Given the description of an element on the screen output the (x, y) to click on. 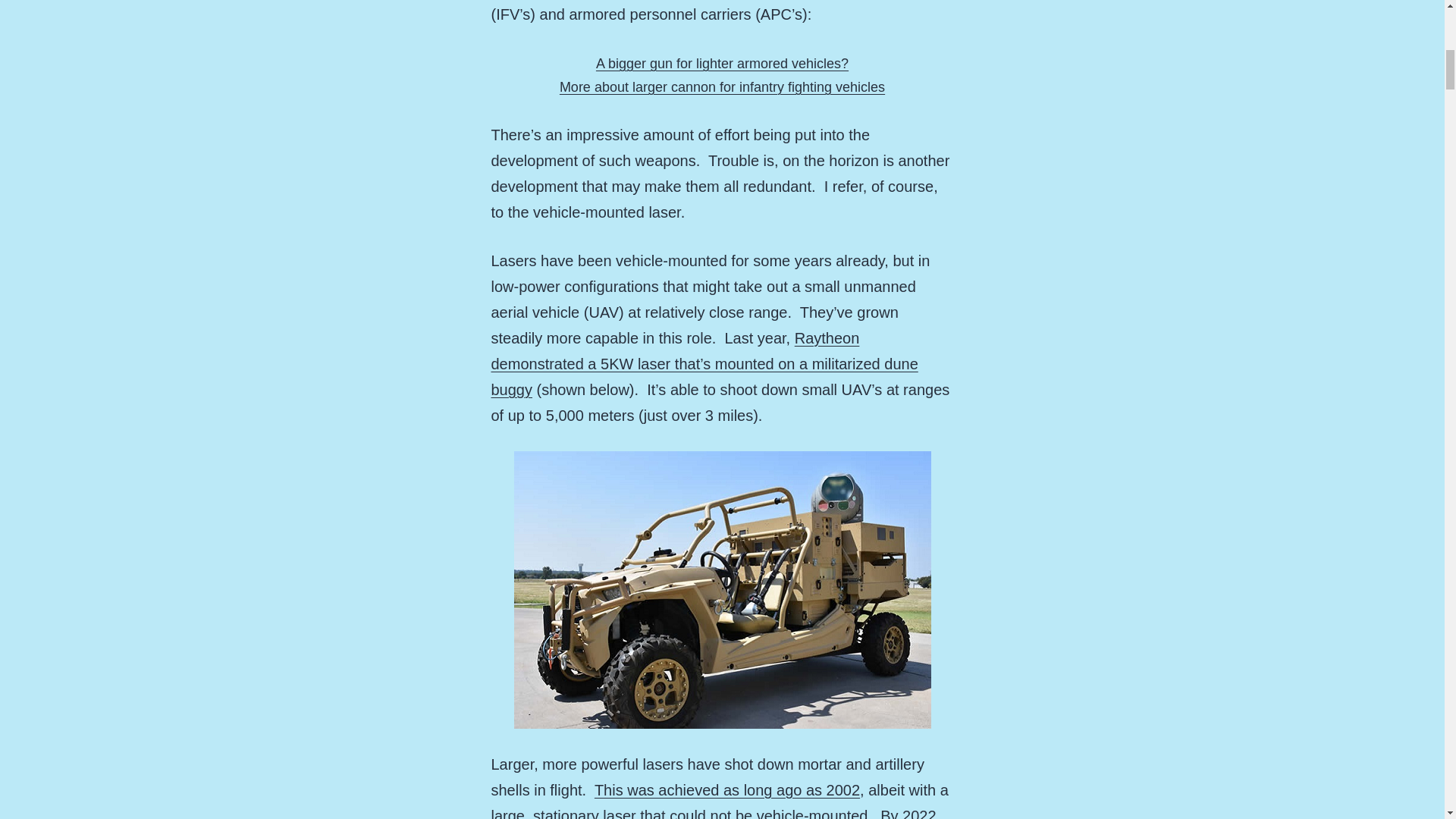
More about larger cannon for infantry fighting vehicles (722, 87)
A bigger gun for lighter armored vehicles? (721, 63)
This was achieved as long ago as 2002 (727, 790)
